Given the description of an element on the screen output the (x, y) to click on. 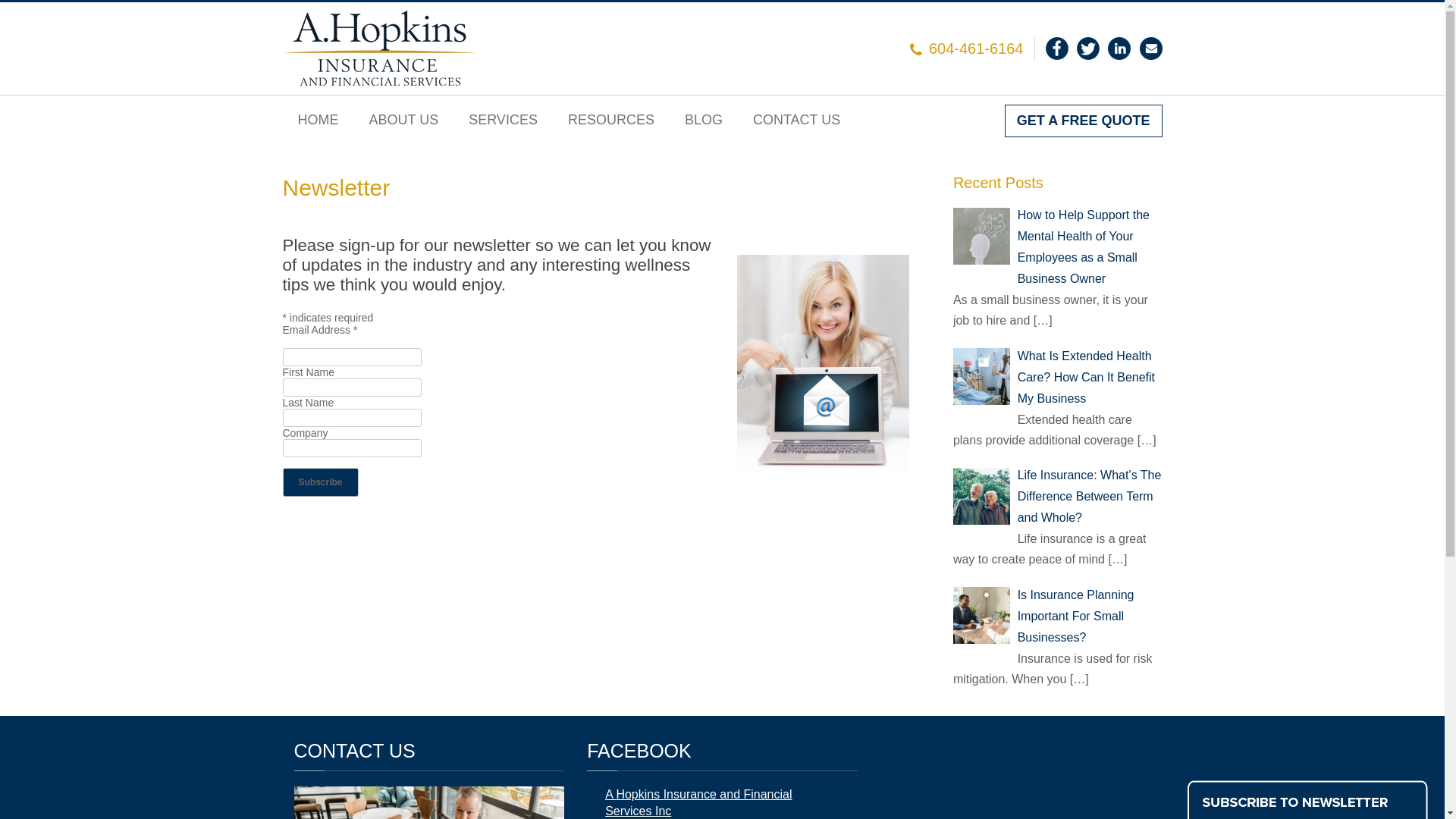
RESOURCES Element type: text (610, 119)
Is Insurance Planning Important For Small Businesses? Element type: text (1075, 616)
SERVICES Element type: text (502, 119)
What Is Extended Health Care? How Can It Benefit My Business Element type: text (1085, 377)
BLOG Element type: text (703, 119)
HOME Element type: text (317, 119)
A. Hopkins Insurance & Financial Services Element type: hover (379, 48)
604-461-6164 Element type: text (975, 48)
CONTACT US Element type: text (796, 119)
ABOUT US Element type: text (403, 119)
Subscribe Element type: text (319, 481)
newsletter sign up image a. hopkins insurance Element type: hover (823, 363)
GET A FREE QUOTE Element type: text (1083, 120)
A Hopkins Insurance and Financial Services Inc Element type: text (698, 801)
